Given the description of an element on the screen output the (x, y) to click on. 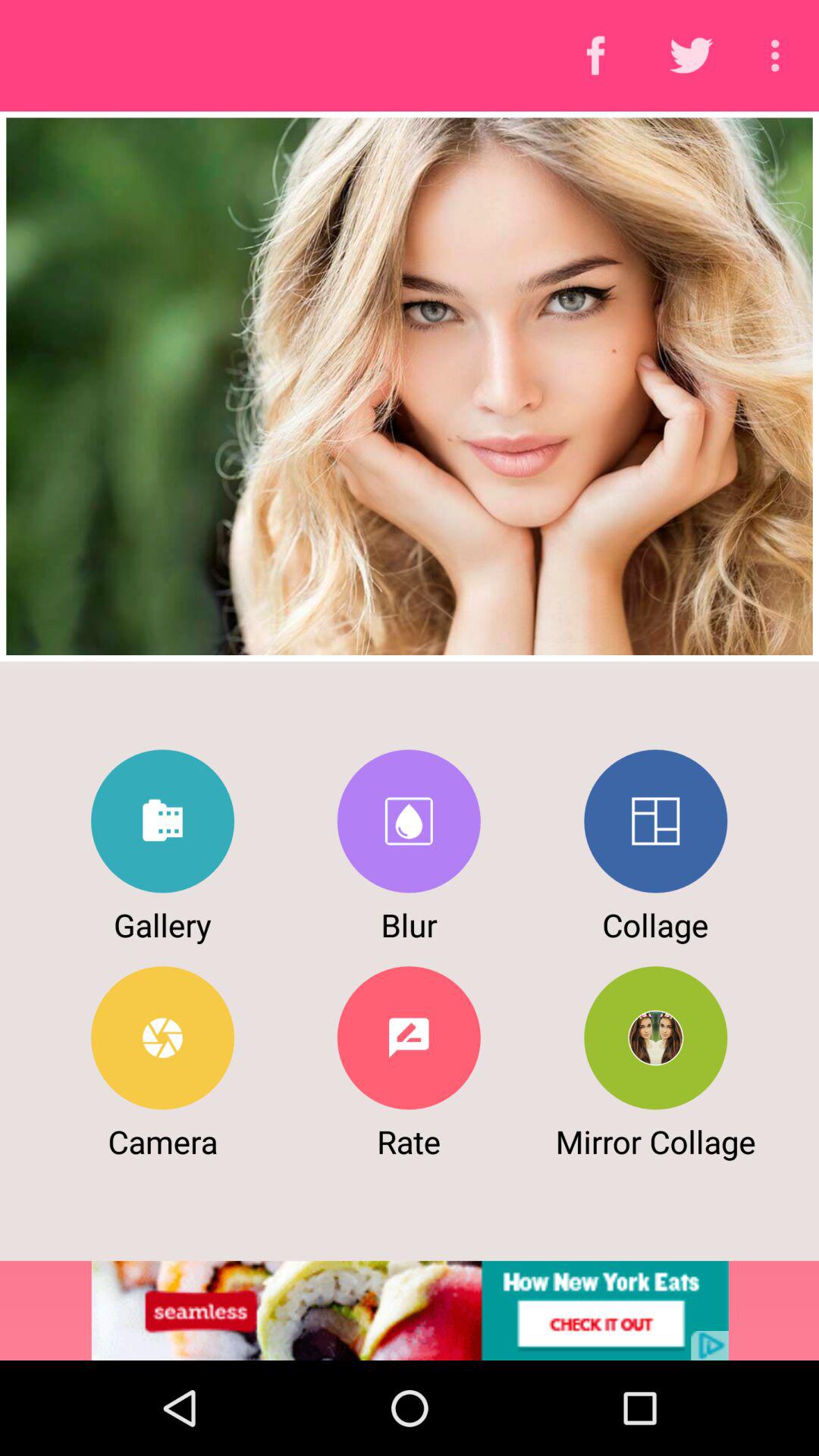
blur (408, 820)
